Given the description of an element on the screen output the (x, y) to click on. 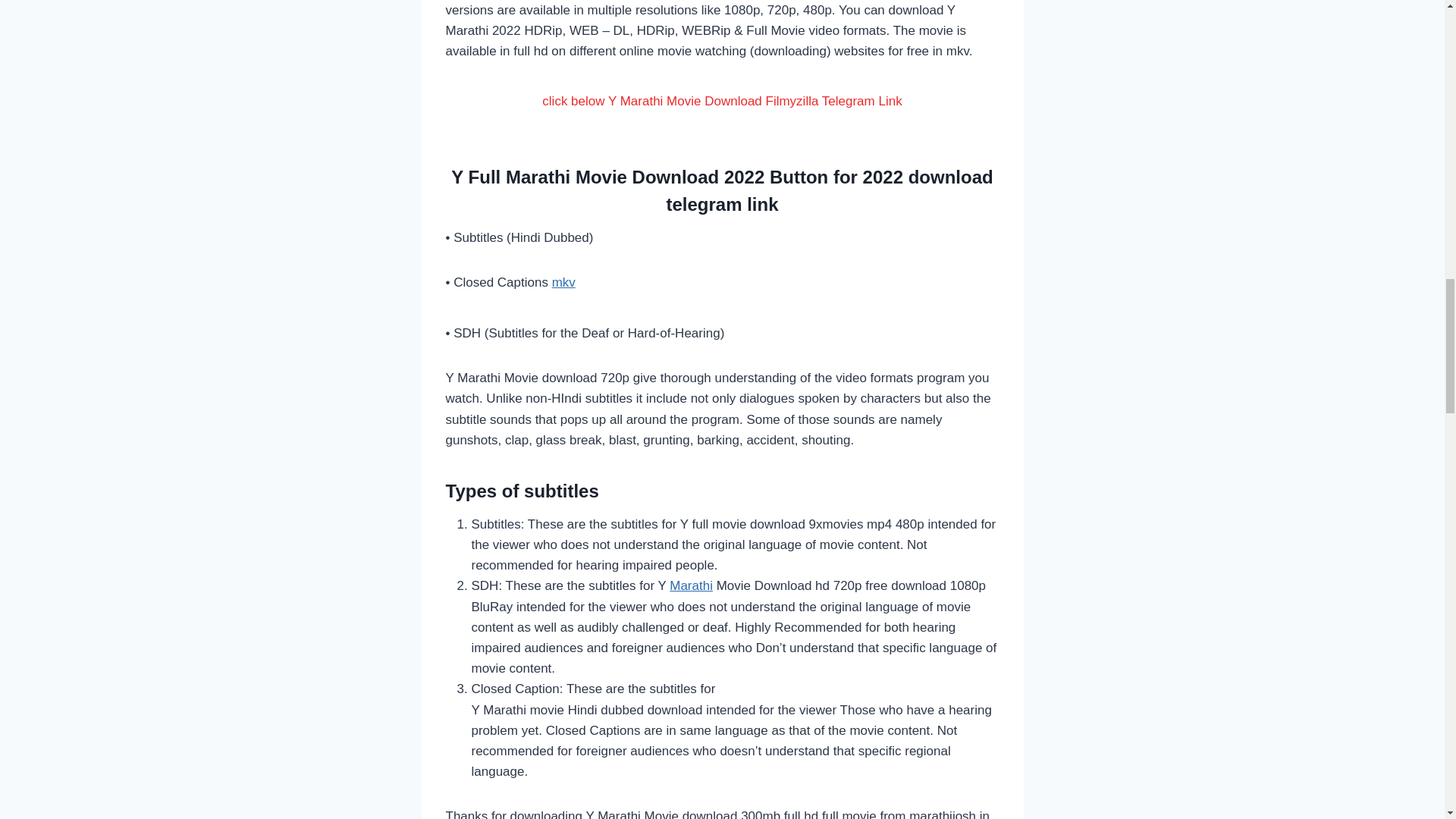
mkv (563, 282)
Marathi (691, 585)
